Given the description of an element on the screen output the (x, y) to click on. 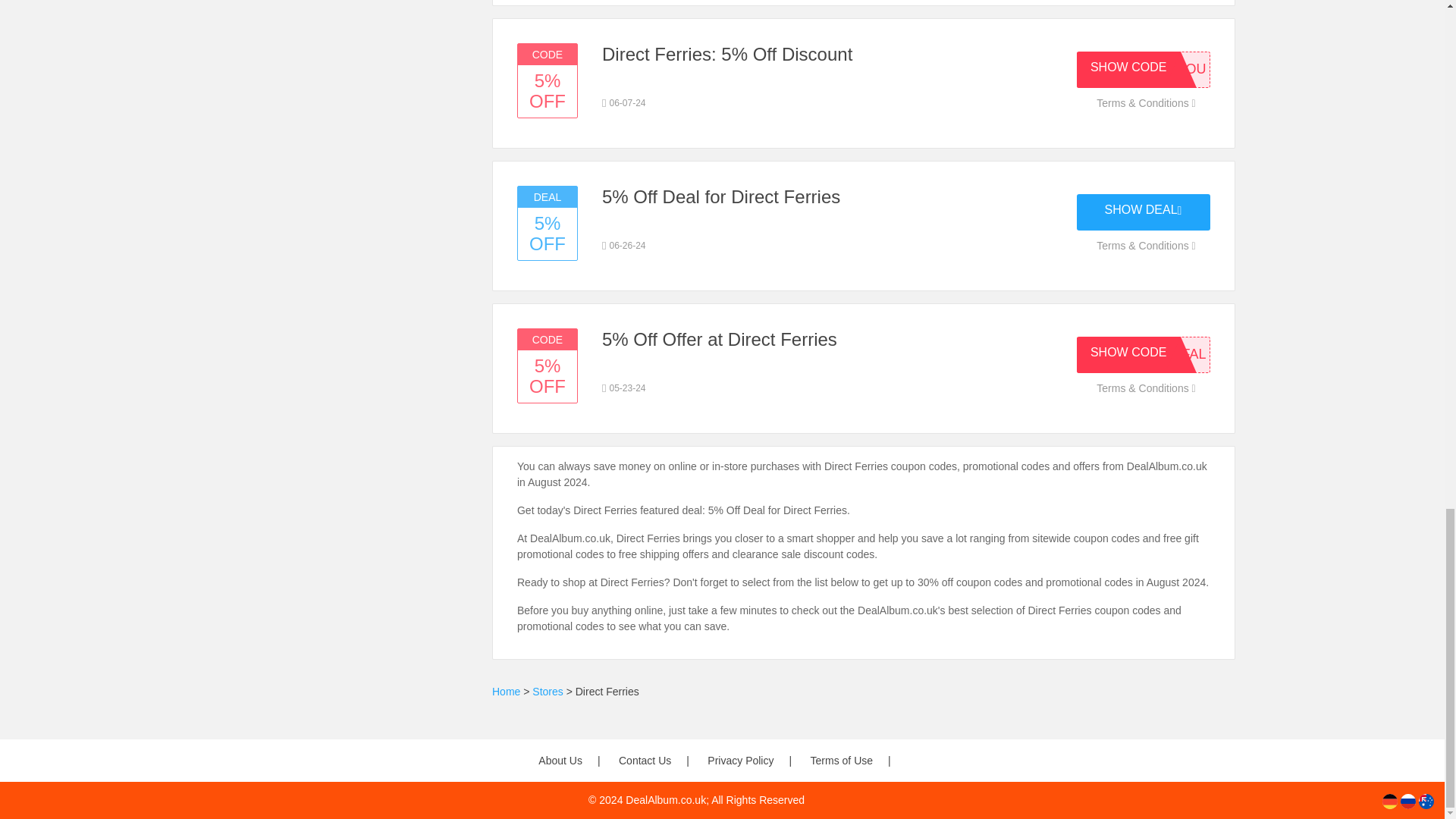
Stores (547, 691)
expires soon (624, 387)
expires soon (624, 102)
Home (505, 691)
expires soon (624, 245)
